Given the description of an element on the screen output the (x, y) to click on. 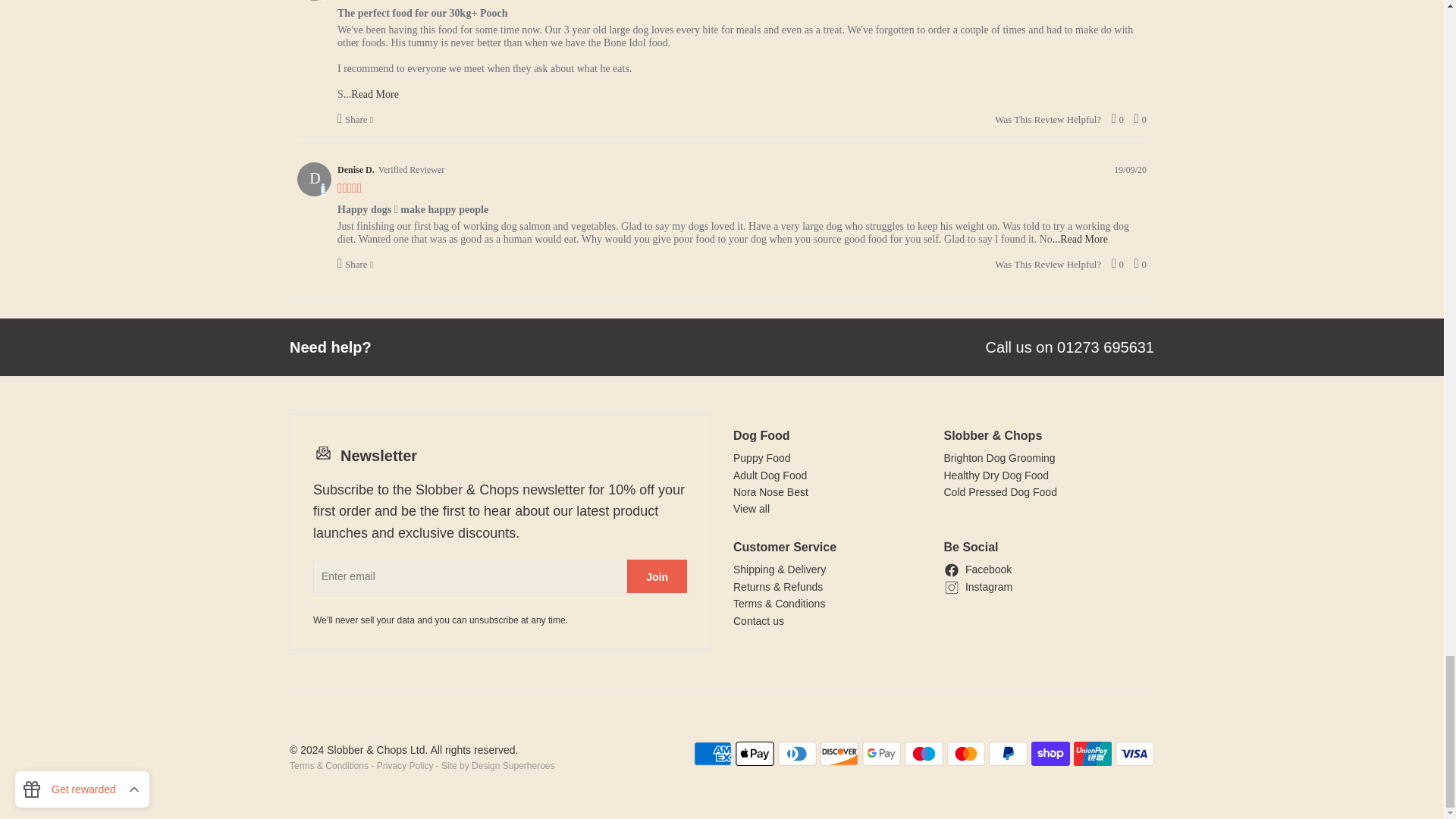
Visit Design Superheroes (512, 765)
